Given the description of an element on the screen output the (x, y) to click on. 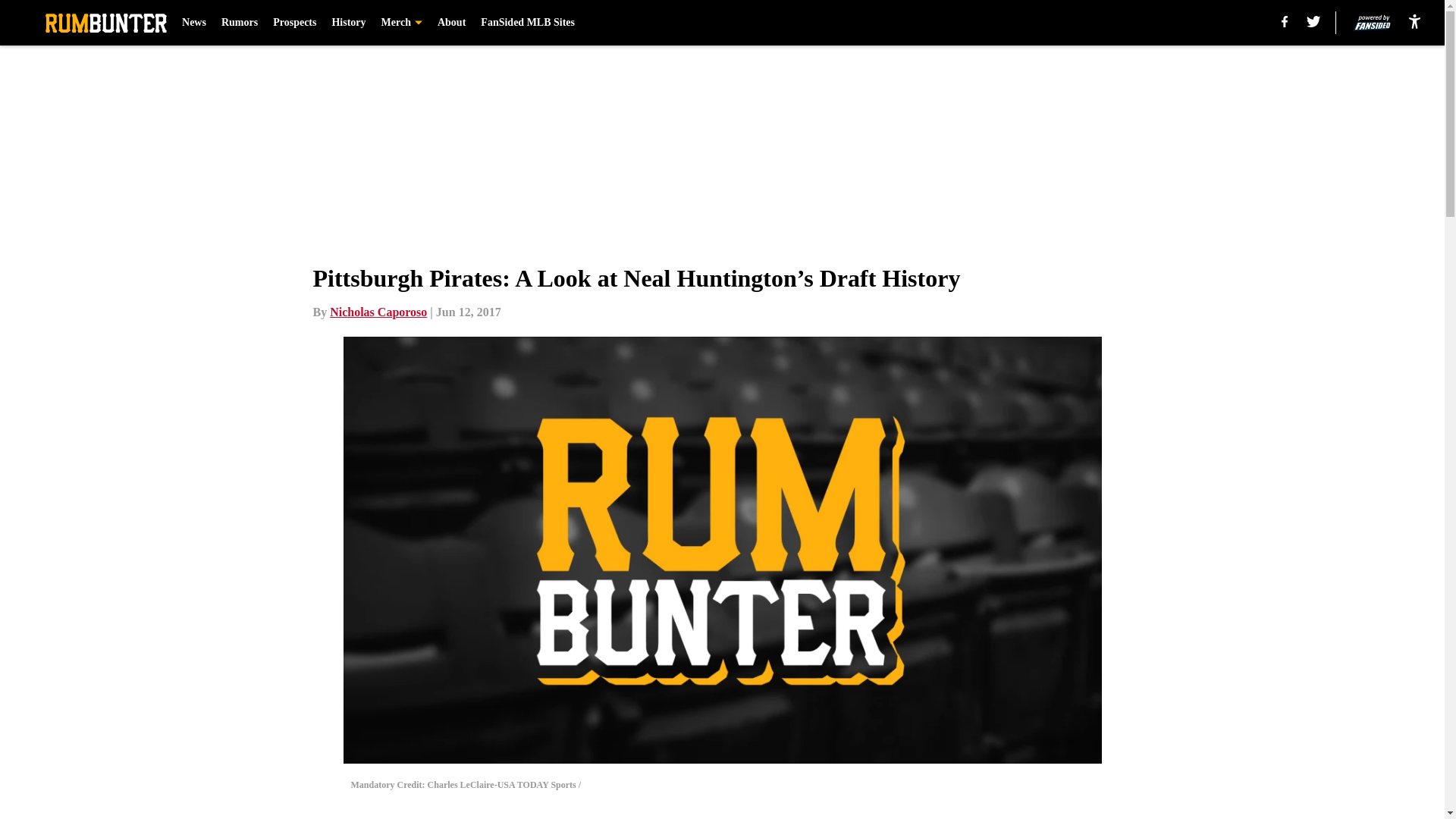
Rumors (239, 22)
History (348, 22)
News (194, 22)
FanSided MLB Sites (527, 22)
Prospects (294, 22)
About (451, 22)
Nicholas Caporoso (378, 311)
